Given the description of an element on the screen output the (x, y) to click on. 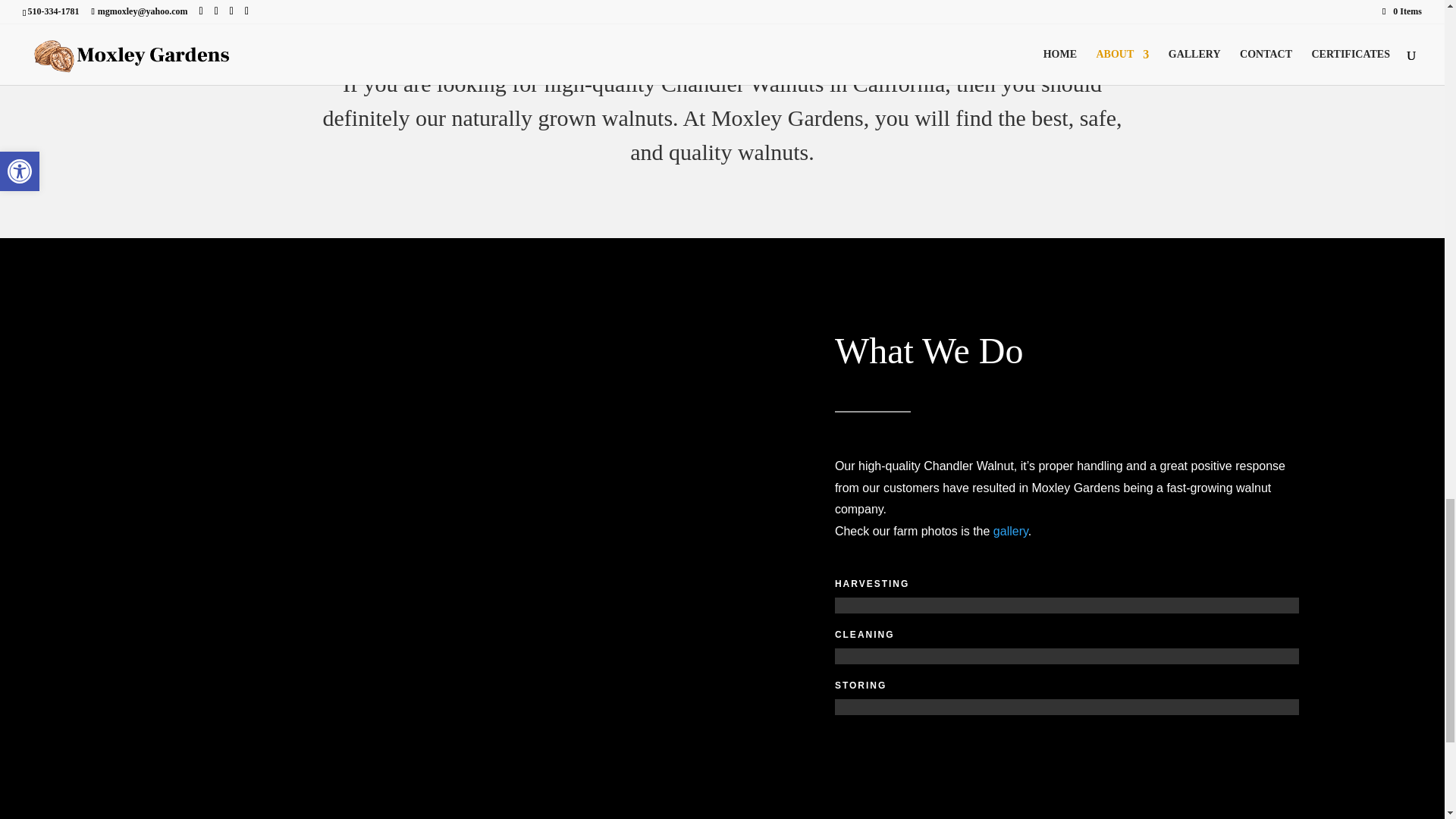
gallery (1009, 530)
